Given the description of an element on the screen output the (x, y) to click on. 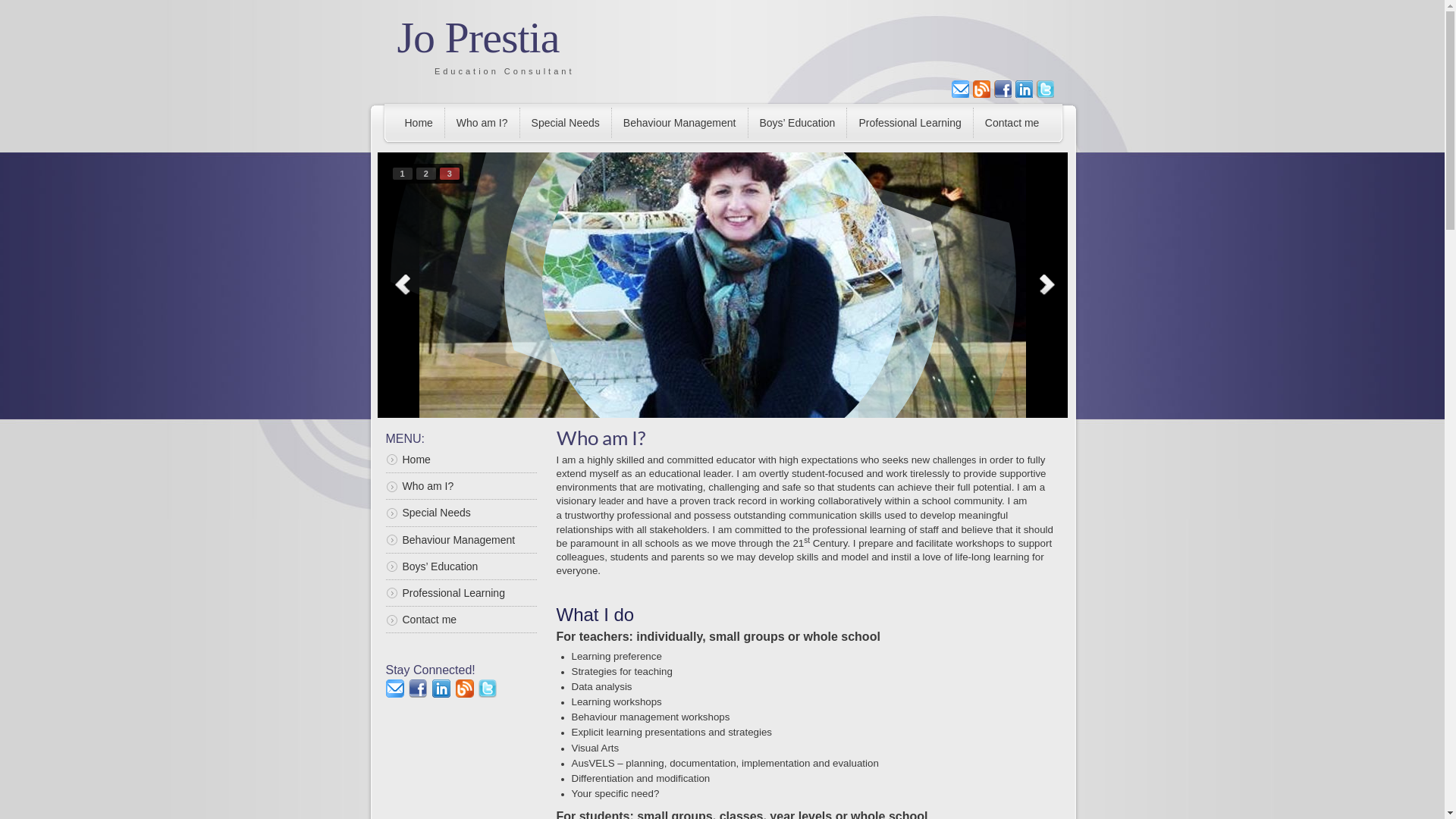
Who am I? Element type: text (460, 486)
prev Element type: text (401, 282)
Twitter Element type: hover (1044, 88)
Home Element type: text (417, 122)
Contact me Element type: text (1011, 122)
Home Element type: text (460, 462)
Professional Learning Element type: text (460, 593)
Jo Prestia Element type: text (478, 37)
Special Needs Element type: text (460, 512)
next Element type: text (1044, 282)
Who am I? Element type: text (481, 122)
Twitter Element type: hover (487, 687)
Contact me Element type: text (460, 619)
Behaviour Management Element type: text (460, 540)
Professional Learning Element type: text (909, 122)
Behaviour Management Element type: text (679, 122)
Special Needs Element type: text (565, 122)
